Given the description of an element on the screen output the (x, y) to click on. 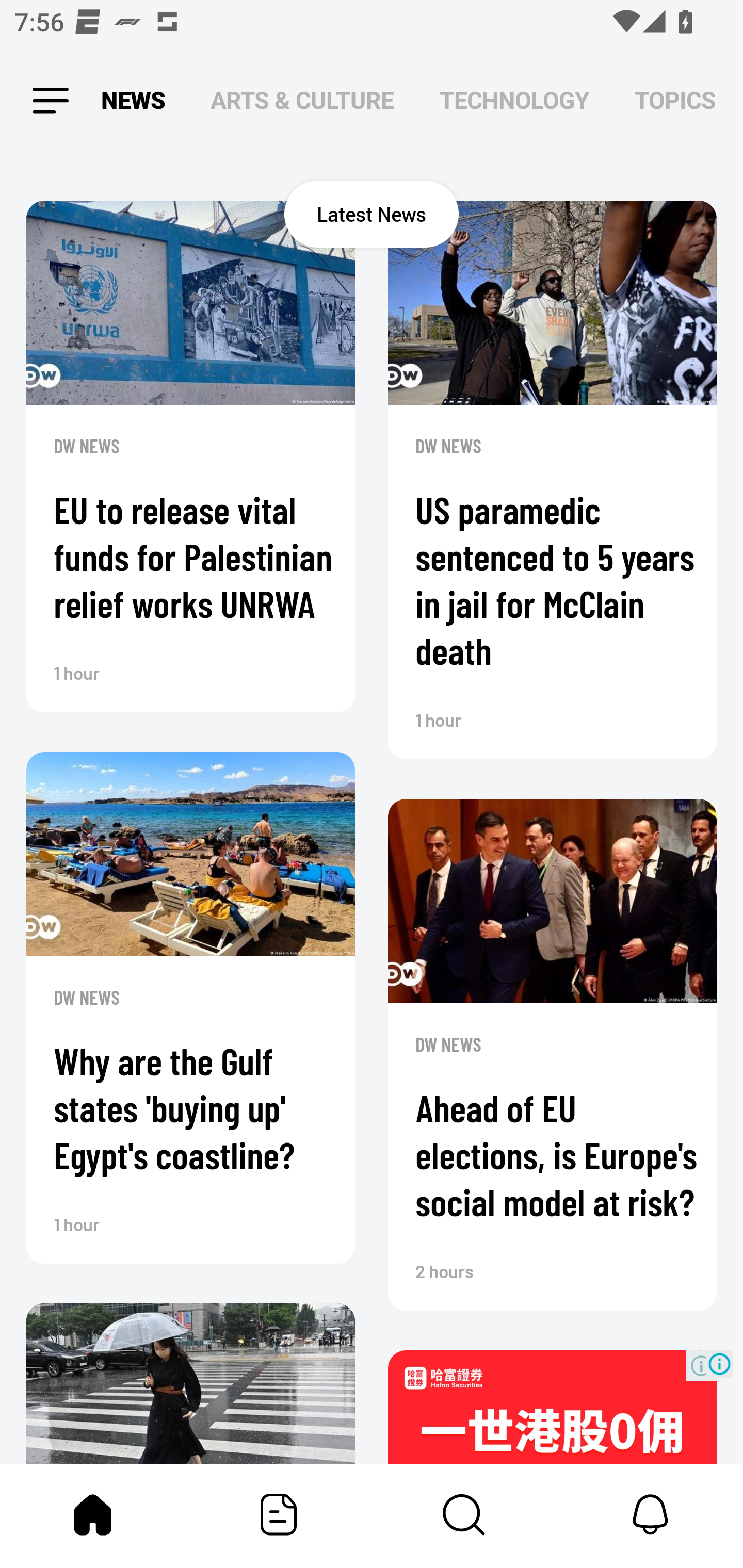
Leading Icon (48, 101)
ARTS & CULTURE (302, 100)
TECHNOLOGY (514, 100)
TOPICS (675, 100)
Latest News (371, 213)
Grid Ad Card Image (551, 1407)
Ad Choices Icon (719, 1364)
Featured (278, 1514)
Content Store (464, 1514)
Notifications (650, 1514)
